Given the description of an element on the screen output the (x, y) to click on. 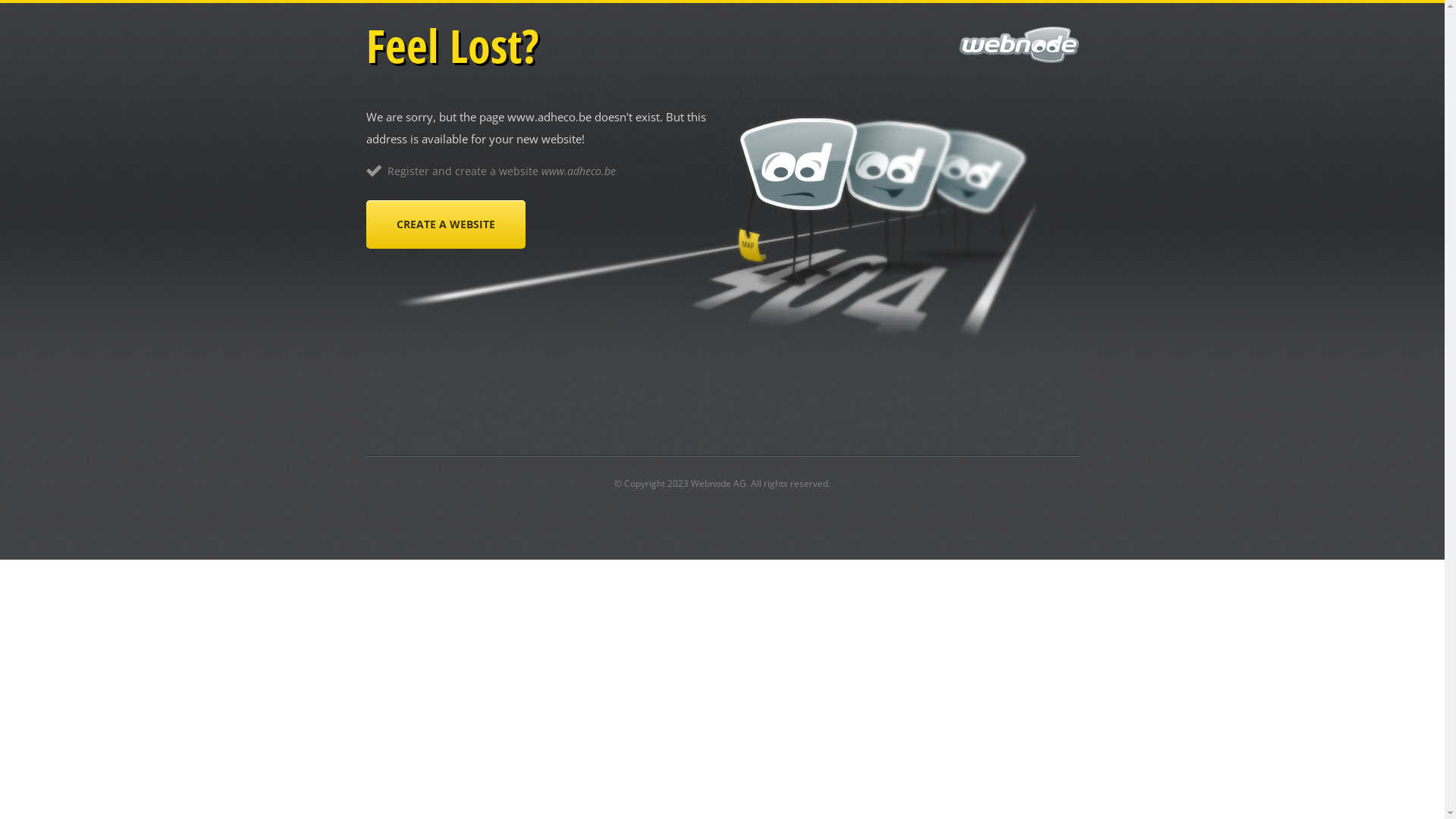
CREATE A WEBSITE Element type: text (444, 224)
Webnode AG Element type: text (718, 482)
